Given the description of an element on the screen output the (x, y) to click on. 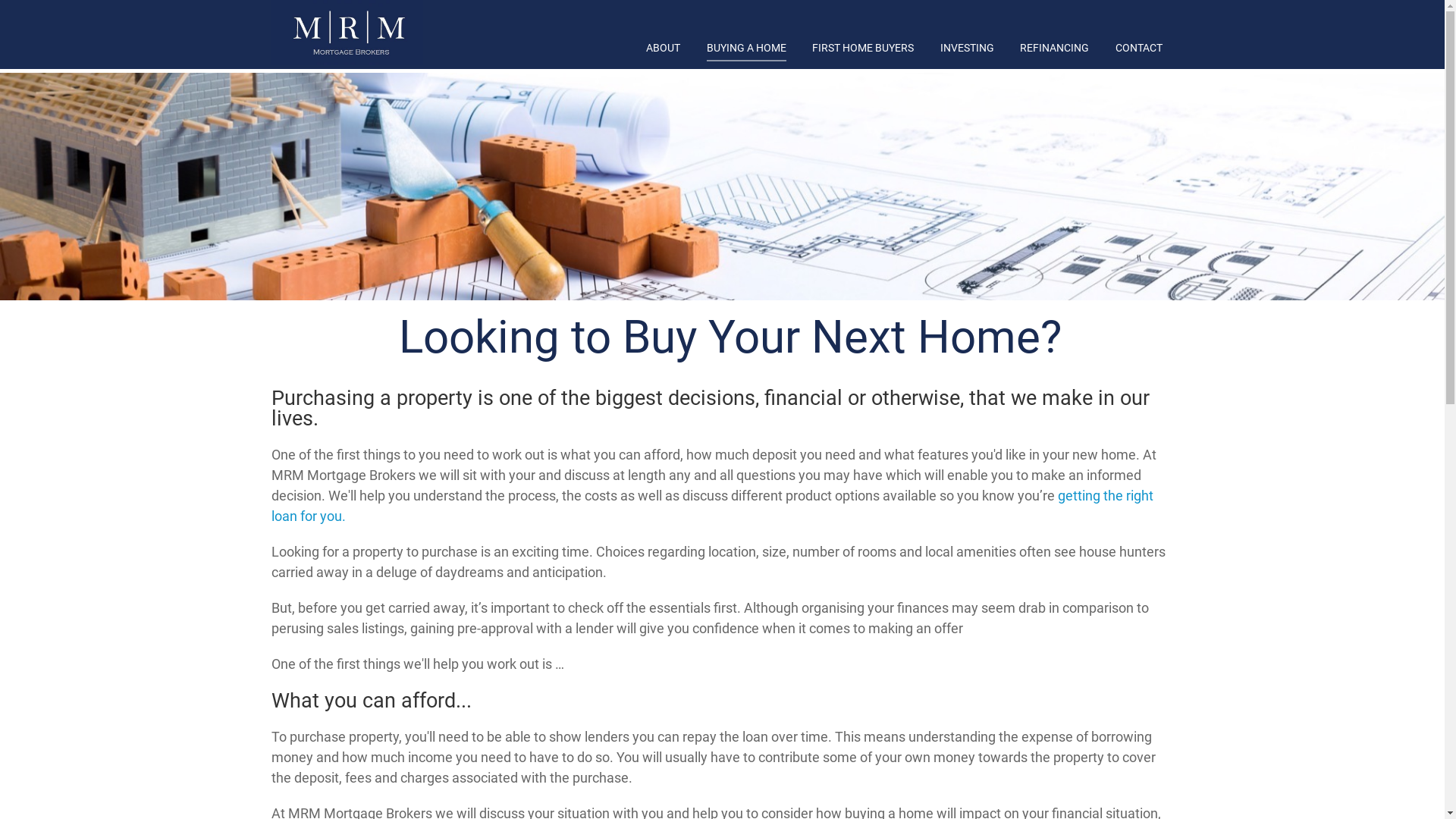
INVESTING Element type: text (967, 47)
FIRST HOME BUYERS Element type: text (862, 47)
getting the right loan for you. Element type: text (712, 505)
BUYING A HOME Element type: text (746, 47)
ABOUT Element type: text (663, 47)
REFINANCING Element type: text (1053, 47)
CONTACT Element type: text (1137, 47)
